Given the description of an element on the screen output the (x, y) to click on. 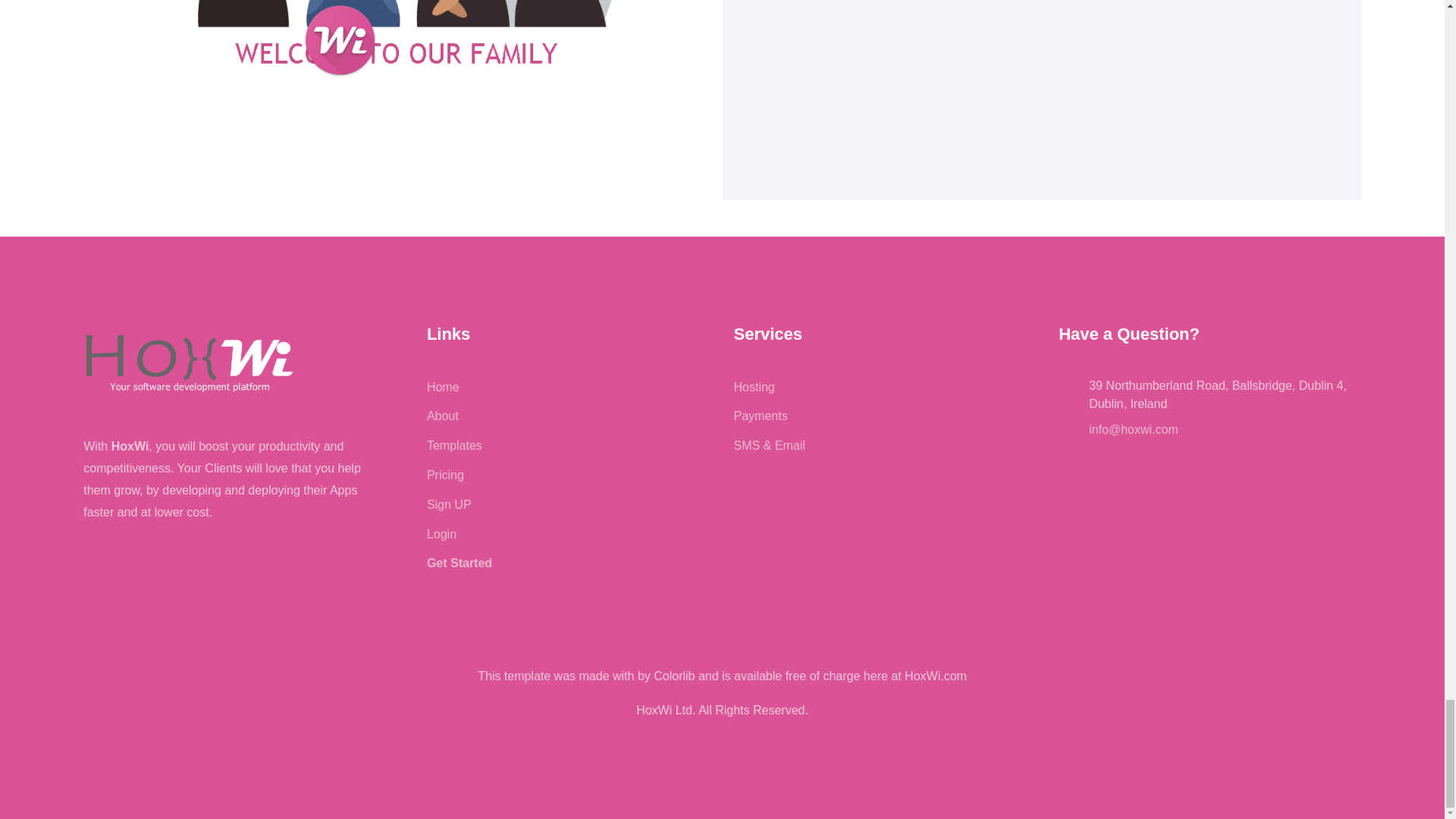
Get Started (459, 562)
Colorlib (673, 675)
Hosting (753, 386)
Templates (453, 445)
Login (441, 533)
Payments (760, 415)
Sign UP (448, 504)
Pricing (445, 474)
About (442, 415)
Home (443, 386)
